Given the description of an element on the screen output the (x, y) to click on. 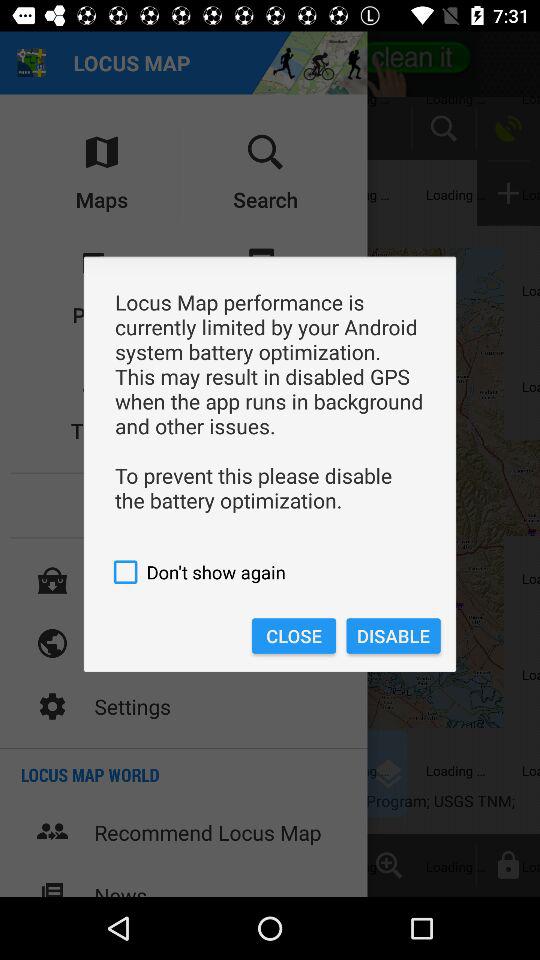
select don t show (269, 572)
